Given the description of an element on the screen output the (x, y) to click on. 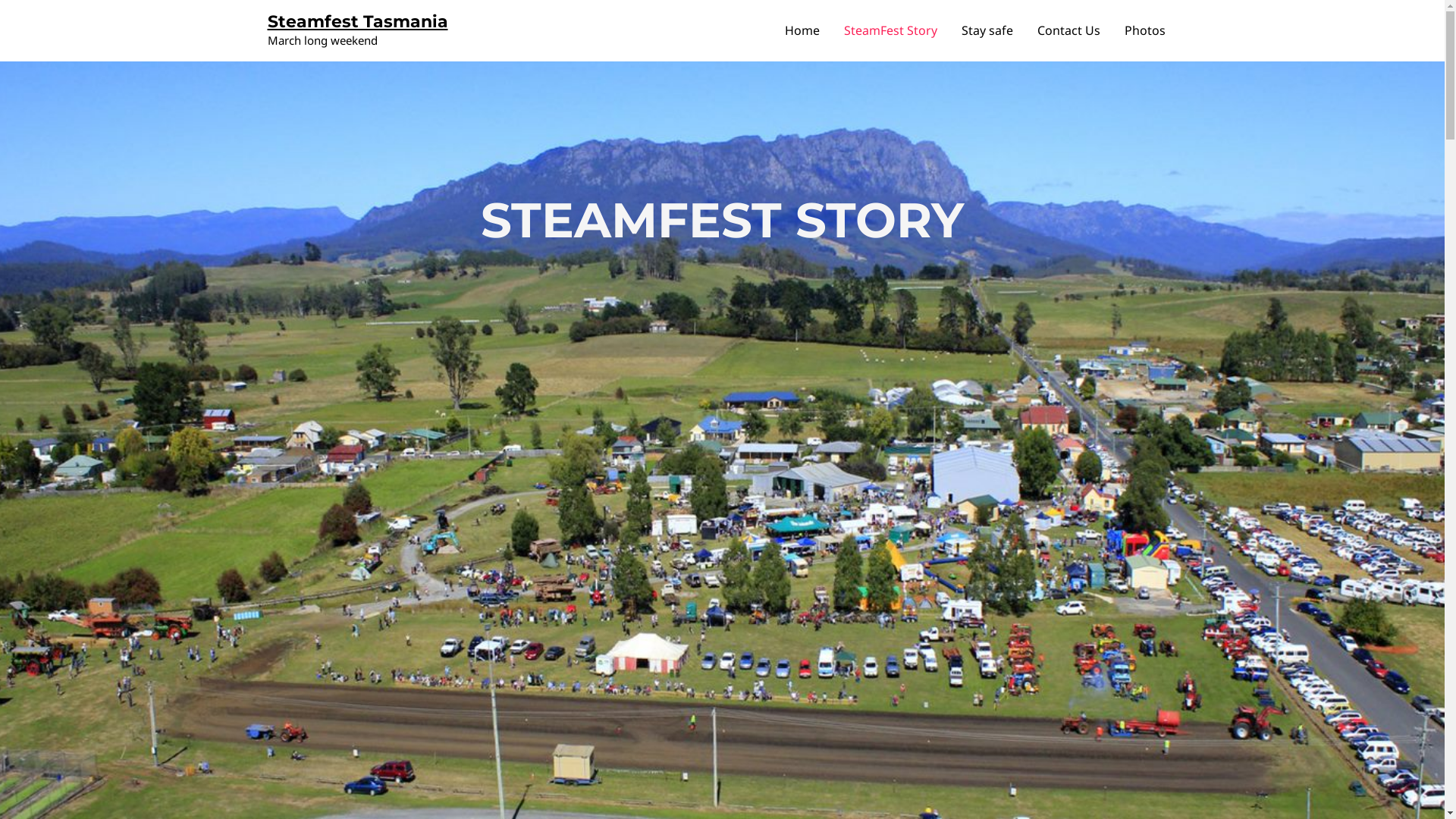
Contact Us Element type: text (1068, 29)
Stay safe Element type: text (987, 29)
Home Element type: text (801, 29)
SteamFest Story Element type: text (889, 29)
Photos Element type: text (1143, 29)
Steamfest Tasmania Element type: text (356, 21)
